Given the description of an element on the screen output the (x, y) to click on. 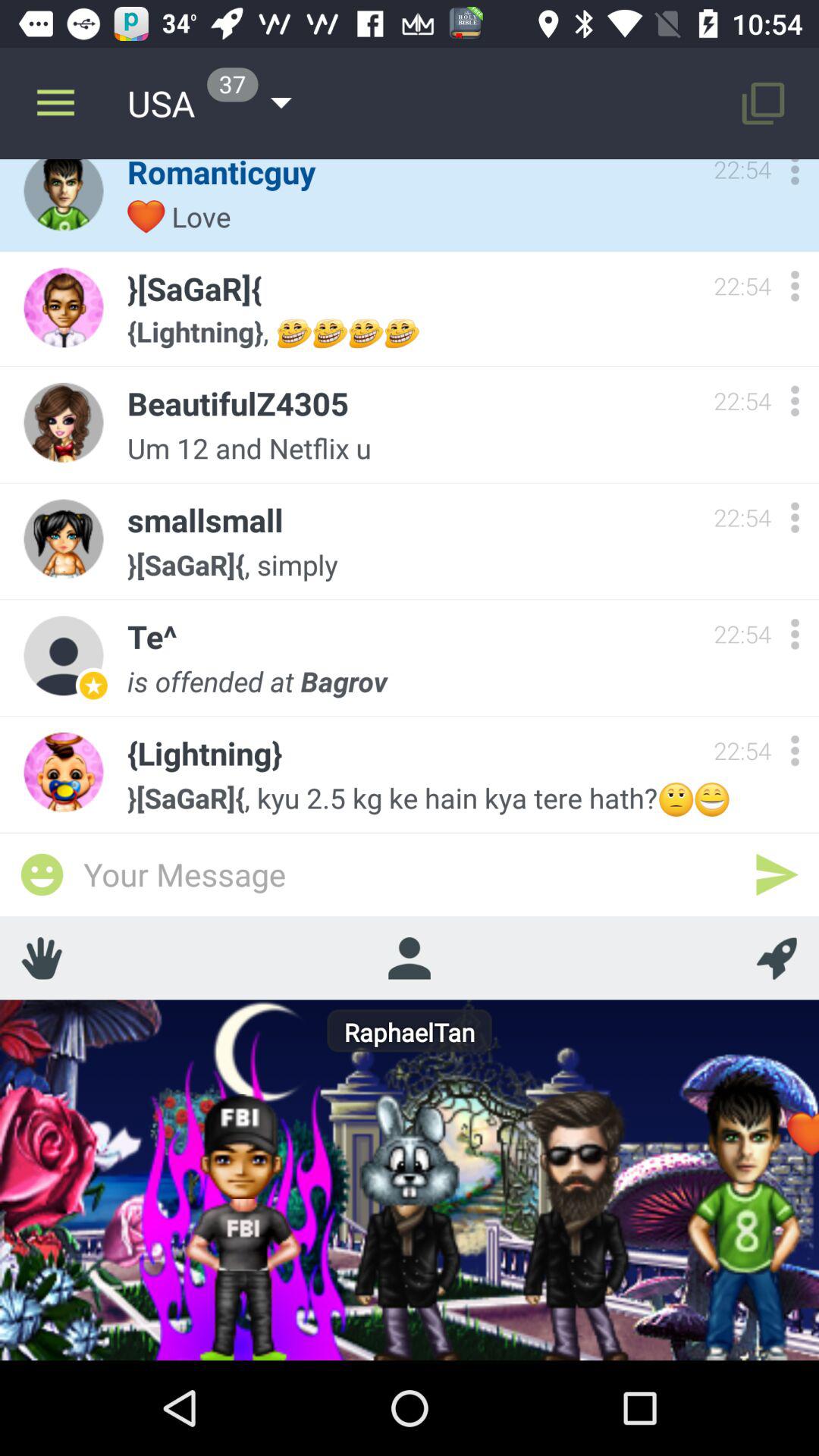
share the article (41, 874)
